Given the description of an element on the screen output the (x, y) to click on. 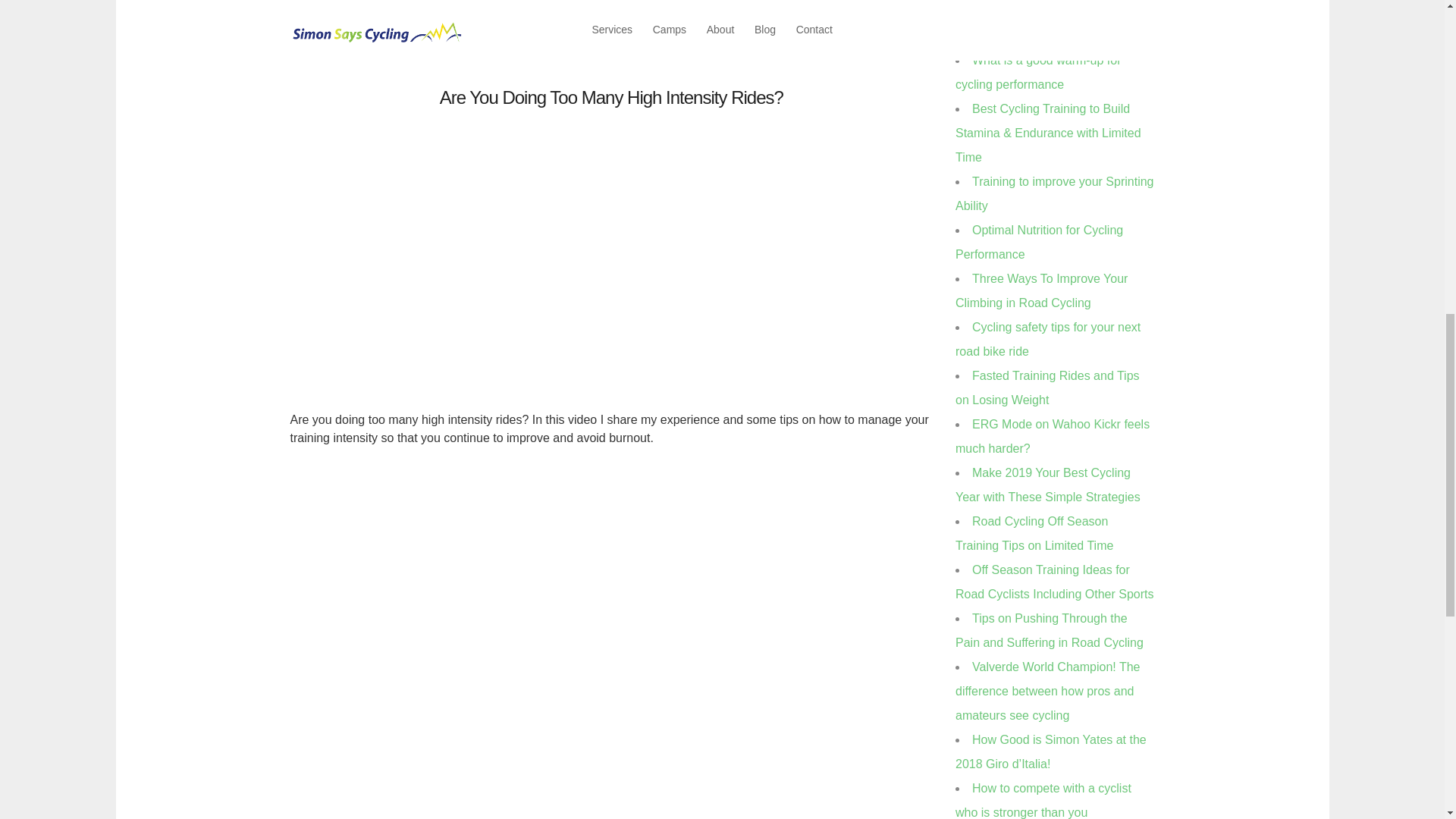
Are You Doing Too Many High Intensity Rides? (611, 96)
Fasted Training Rides and Tips on Losing Weight (1047, 387)
Cycling safety tips for your next road bike ride (1047, 339)
Road Cycling Off Season Training Tips on Limited Time (1034, 533)
ERG Mode on Wahoo Kickr feels much harder? (1052, 436)
Three Ways To Improve Your Climbing in Road Cycling (1040, 290)
Training to improve your Sprinting Ability (1054, 193)
What is a good warm-up for cycling performance (1038, 72)
Optimal Nutrition for Cycling Performance (1038, 242)
